Given the description of an element on the screen output the (x, y) to click on. 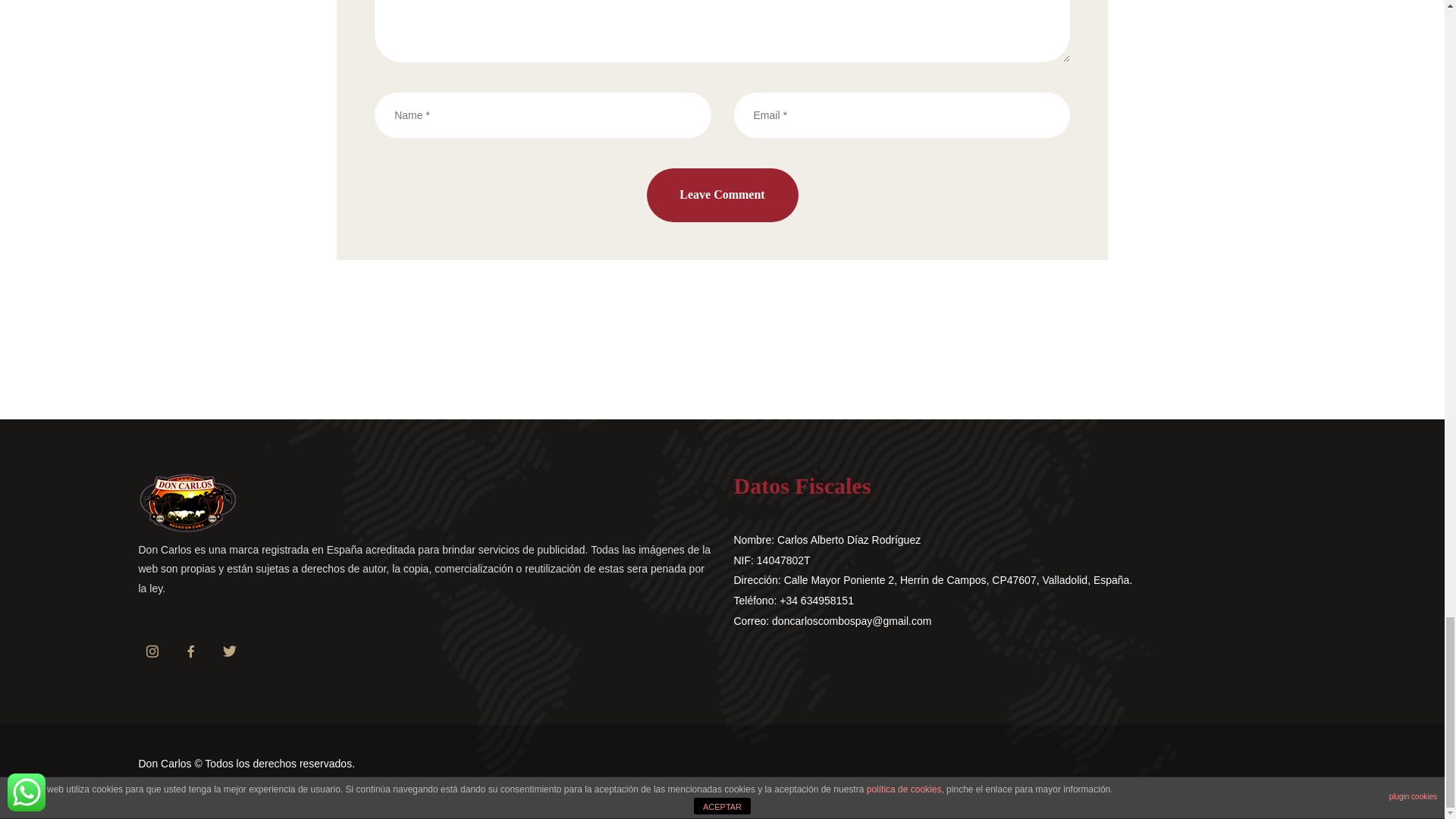
Leave Comment (721, 194)
Leave Comment (721, 194)
